Given the description of an element on the screen output the (x, y) to click on. 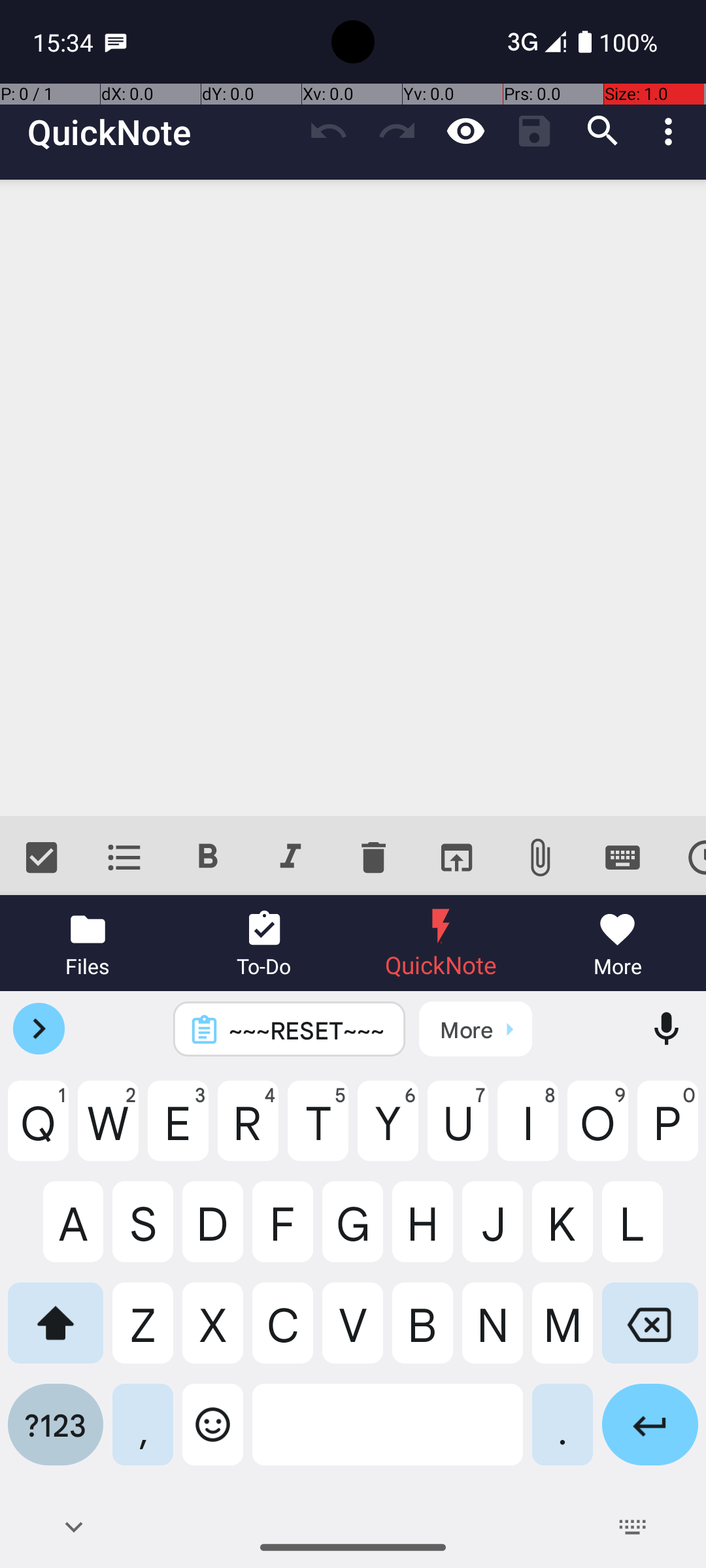
Q Element type: android.widget.FrameLayout (38, 1130)
E Element type: android.widget.FrameLayout (178, 1130)
R Element type: android.widget.FrameLayout (248, 1130)
Y Element type: android.widget.FrameLayout (387, 1130)
U Element type: android.widget.FrameLayout (457, 1130)
I Element type: android.widget.FrameLayout (527, 1130)
O Element type: android.widget.FrameLayout (597, 1130)
P Element type: android.widget.FrameLayout (667, 1130)
A Element type: android.widget.FrameLayout (55, 1231)
D Element type: android.widget.FrameLayout (212, 1231)
G Element type: android.widget.FrameLayout (352, 1231)
H Element type: android.widget.FrameLayout (422, 1231)
J Element type: android.widget.FrameLayout (492, 1231)
K Element type: android.widget.FrameLayout (562, 1231)
L Element type: android.widget.FrameLayout (649, 1231)
Z Element type: android.widget.FrameLayout (142, 1332)
X Element type: android.widget.FrameLayout (212, 1332)
C Element type: android.widget.FrameLayout (282, 1332)
V Element type: android.widget.FrameLayout (352, 1332)
B Element type: android.widget.FrameLayout (422, 1332)
N Element type: android.widget.FrameLayout (492, 1332)
~~~RESET~~~ Element type: android.widget.TextView (306, 1029)
